Given the description of an element on the screen output the (x, y) to click on. 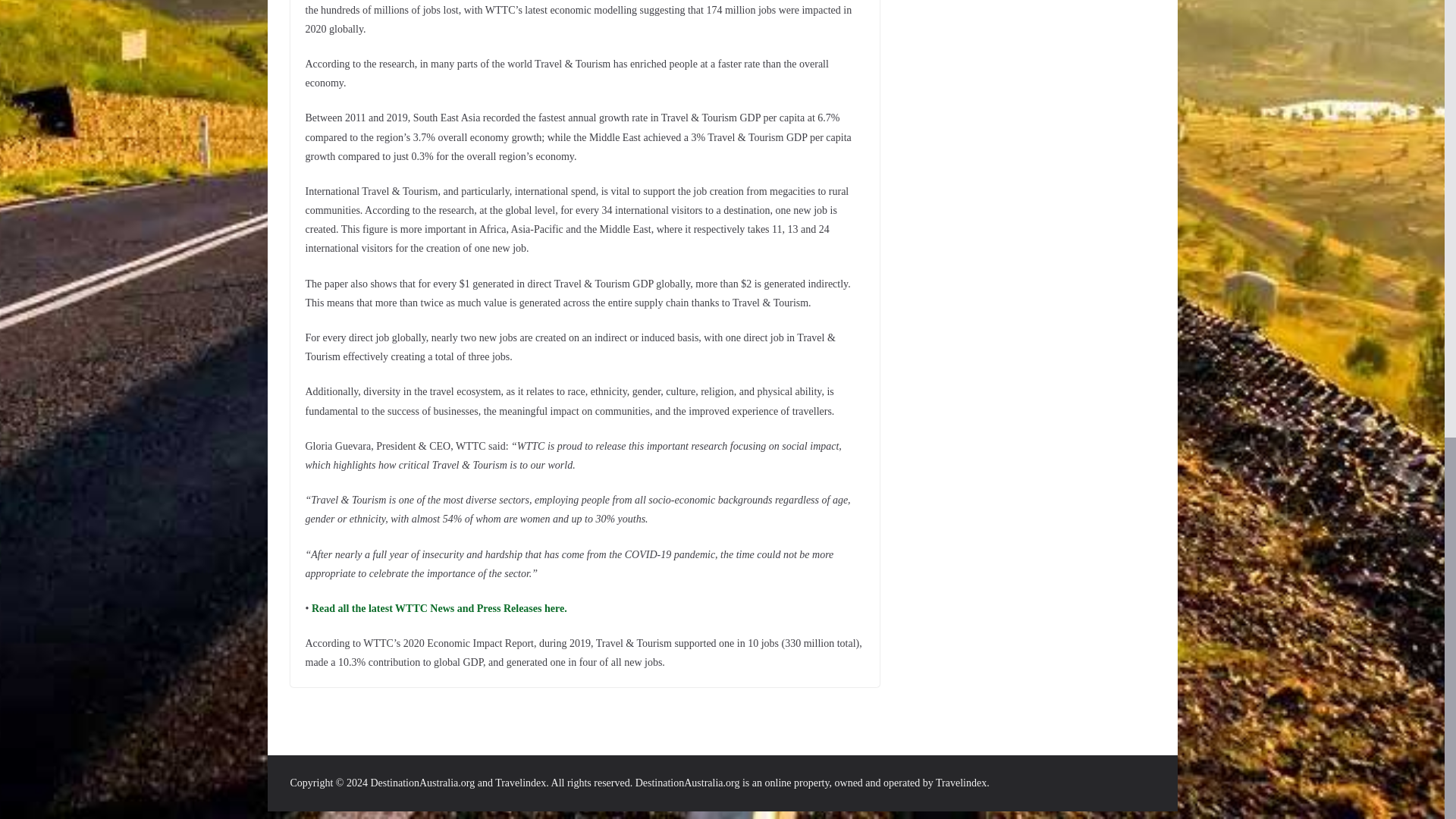
Read all the latest WTTC News and Press Releases here. (437, 608)
